Given the description of an element on the screen output the (x, y) to click on. 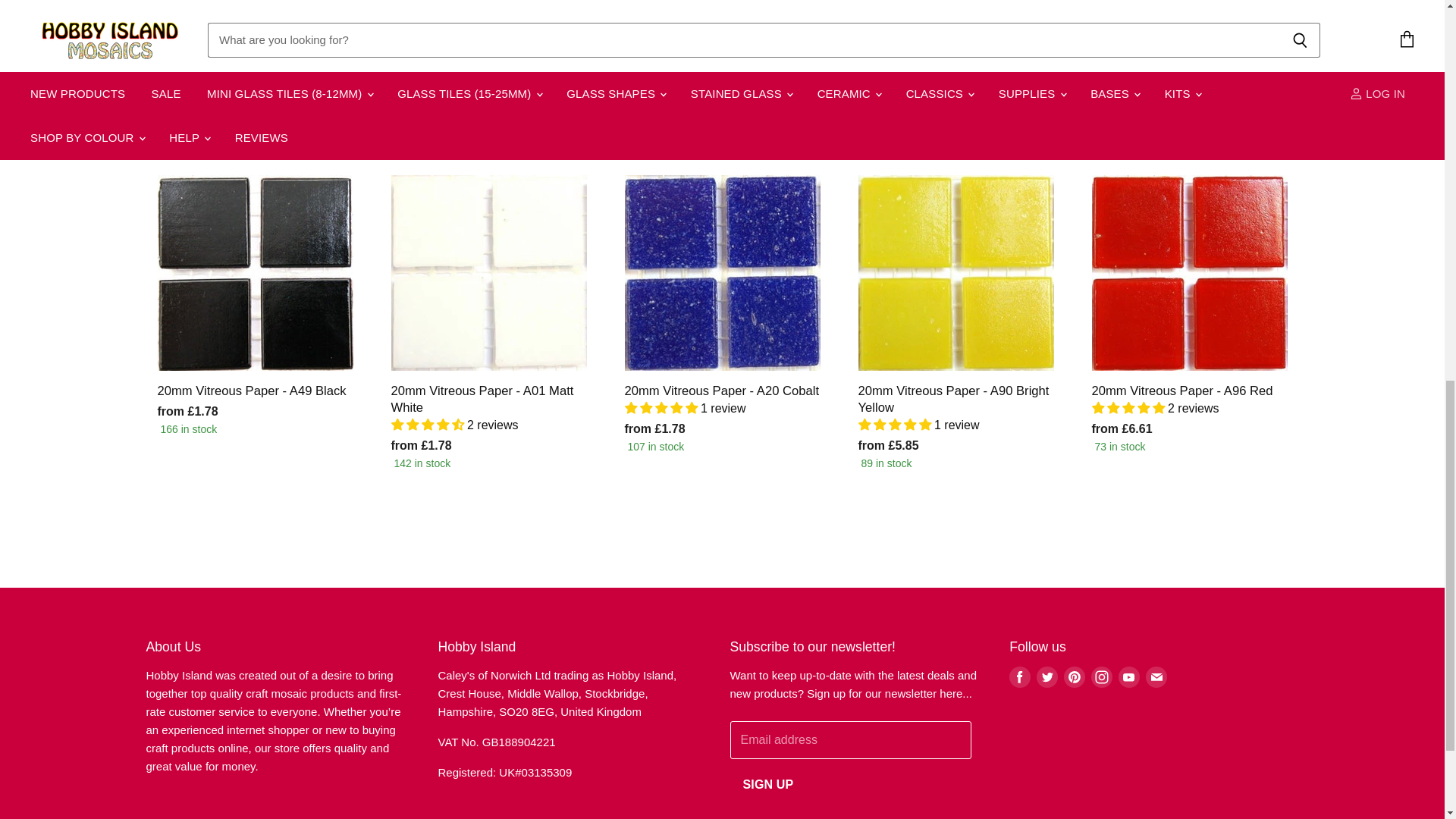
E-mail (1156, 677)
Twitter (1047, 677)
Youtube (1128, 677)
Facebook (1019, 677)
Instagram (1101, 677)
Pinterest (1074, 677)
